Given the description of an element on the screen output the (x, y) to click on. 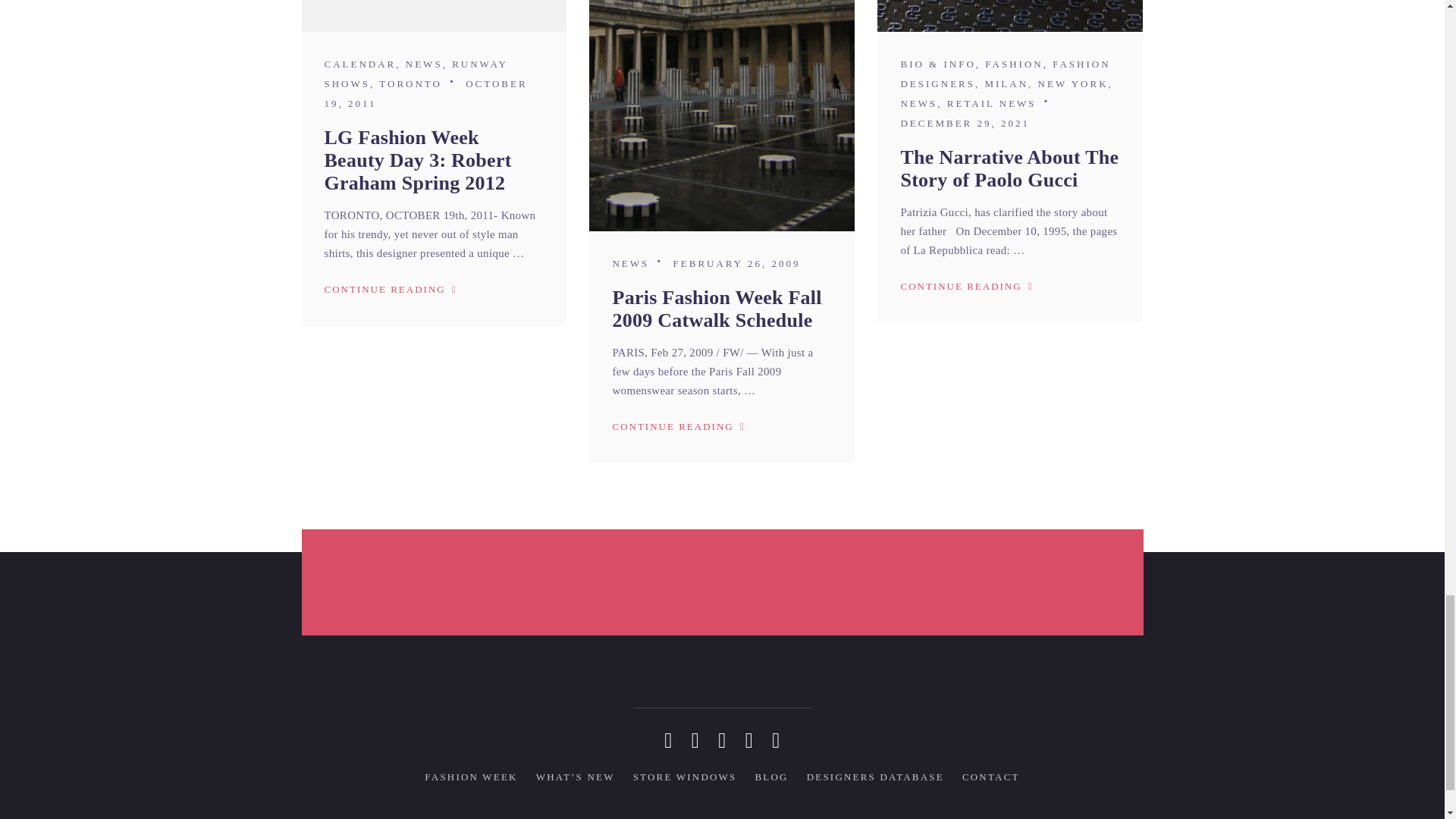
LG Fashion Week Beauty Day 3: Robert Graham Spring 2012 (434, 15)
View all posts in Calendar (360, 63)
View all posts in News (424, 63)
